Given the description of an element on the screen output the (x, y) to click on. 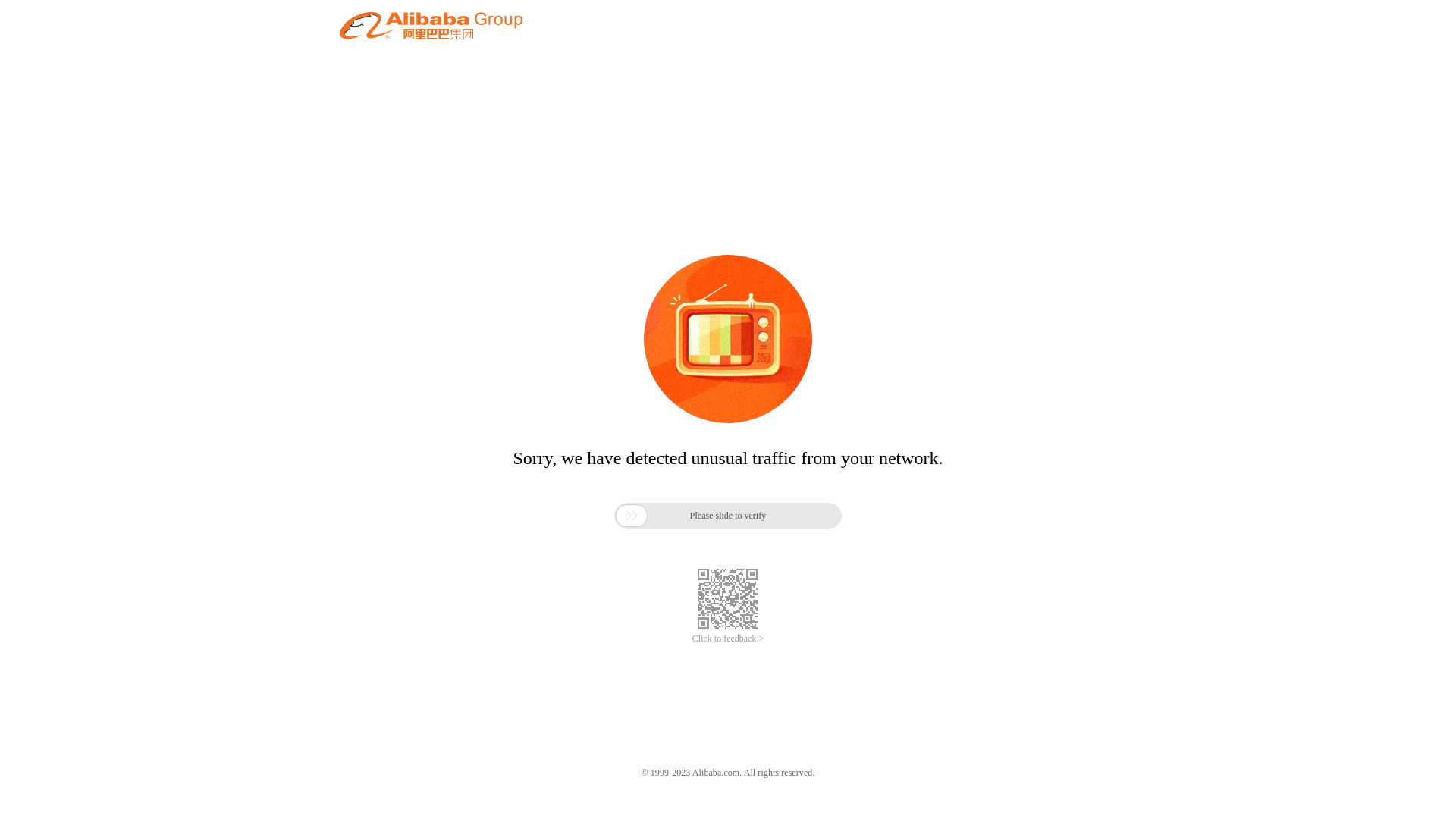
Click to feedback > Element type: text (727, 638)
